Given the description of an element on the screen output the (x, y) to click on. 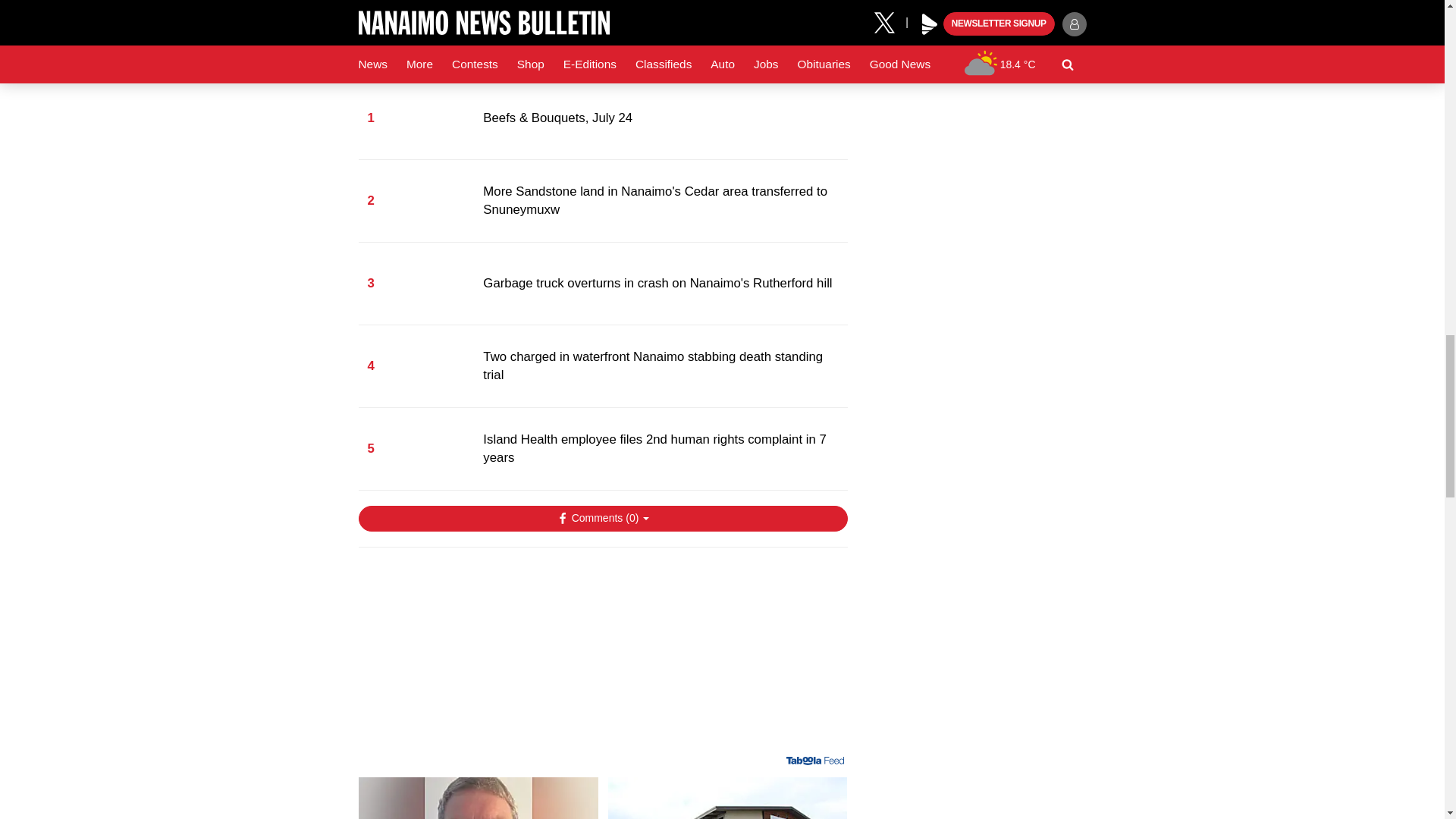
3rd party ad content (602, 657)
Show Comments (602, 518)
UPDATE: Nanaimo RCMP report missing senior found dead (478, 798)
